Given the description of an element on the screen output the (x, y) to click on. 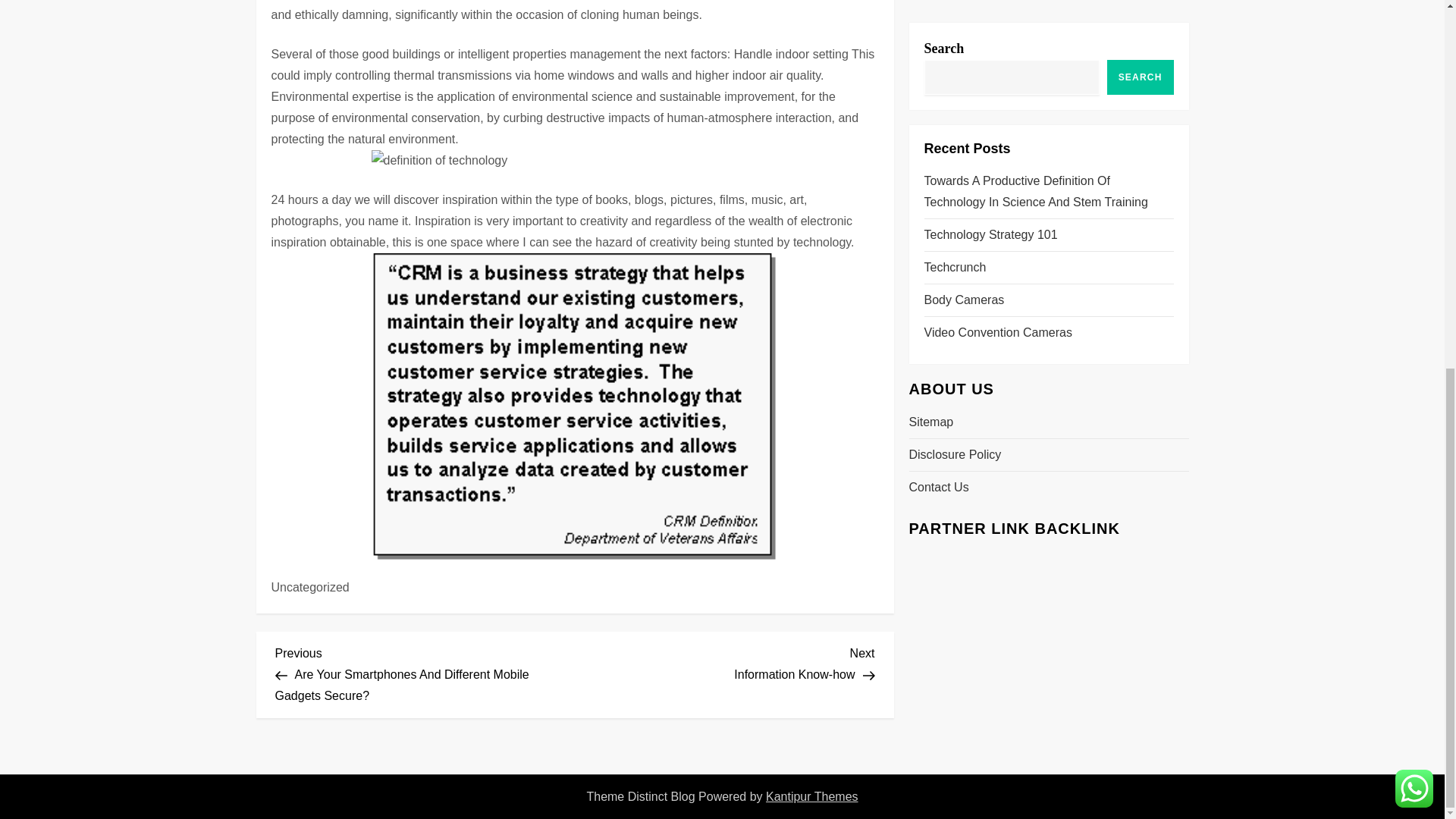
Sitemap (725, 661)
Contact Us (930, 6)
Disclosure Policy (938, 66)
Kantipur Themes (954, 34)
